Given the description of an element on the screen output the (x, y) to click on. 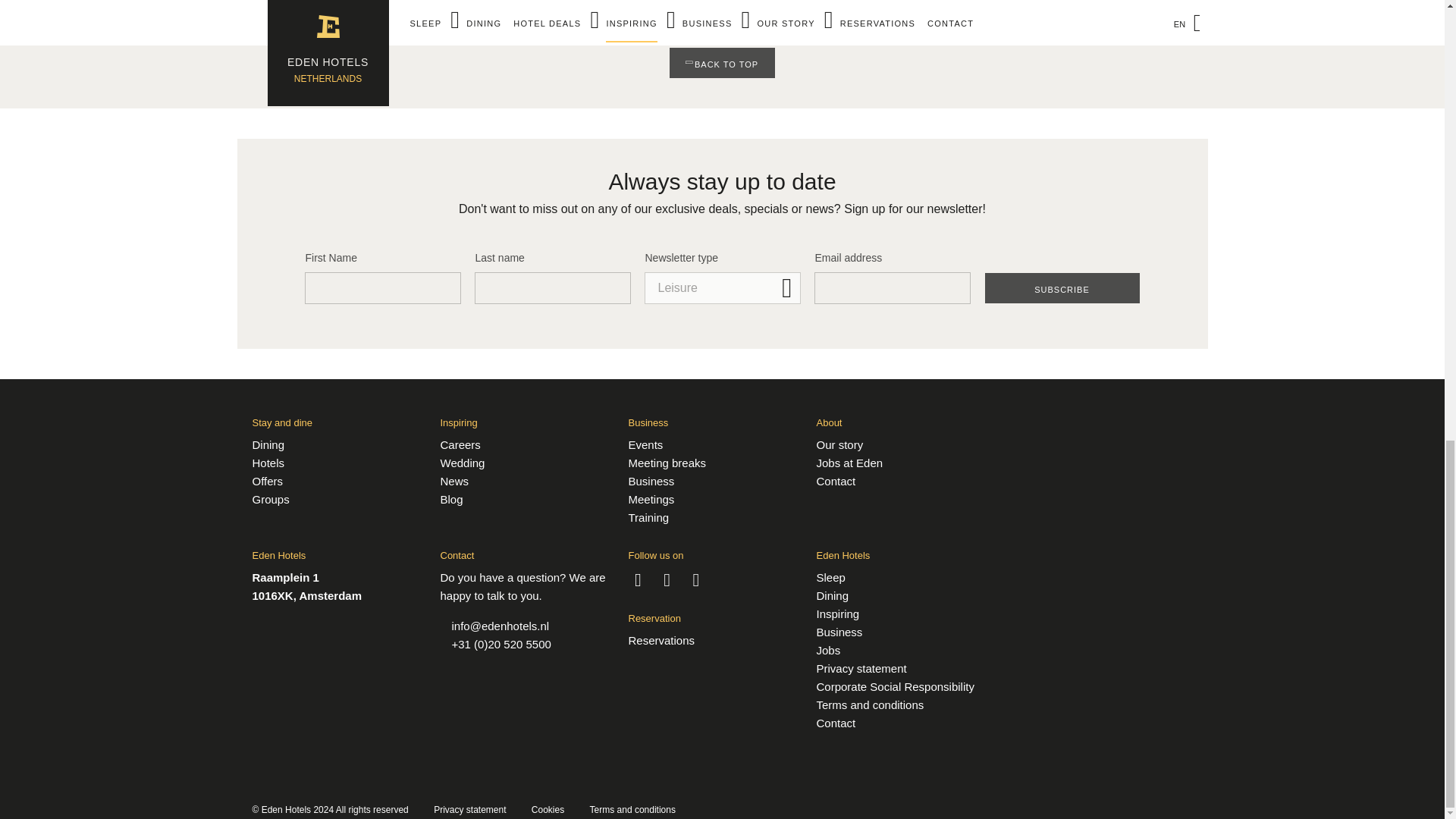
Pinterest (695, 578)
BACK TO TOP (721, 62)
Instagram (667, 578)
LinkedIn (637, 578)
